Given the description of an element on the screen output the (x, y) to click on. 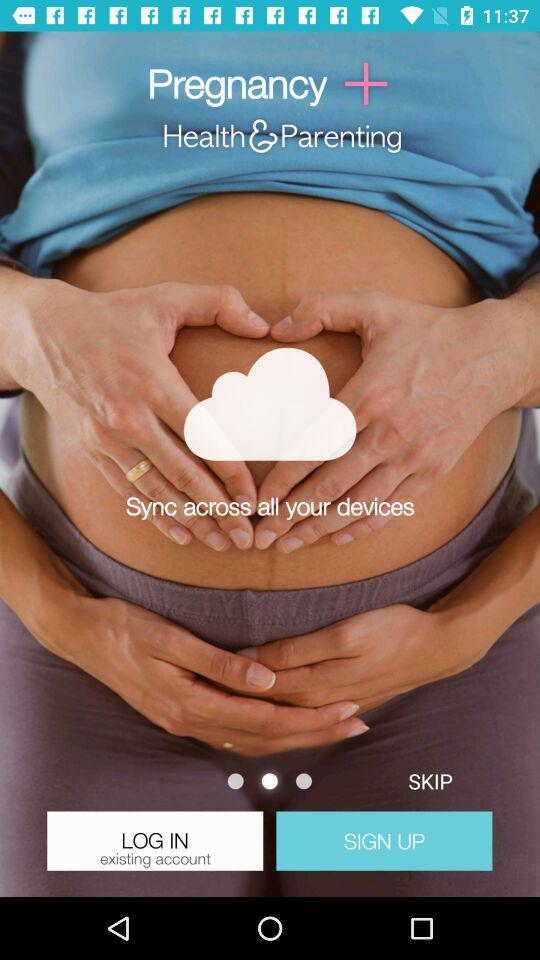
choose the item above the sign up icon (430, 780)
